Given the description of an element on the screen output the (x, y) to click on. 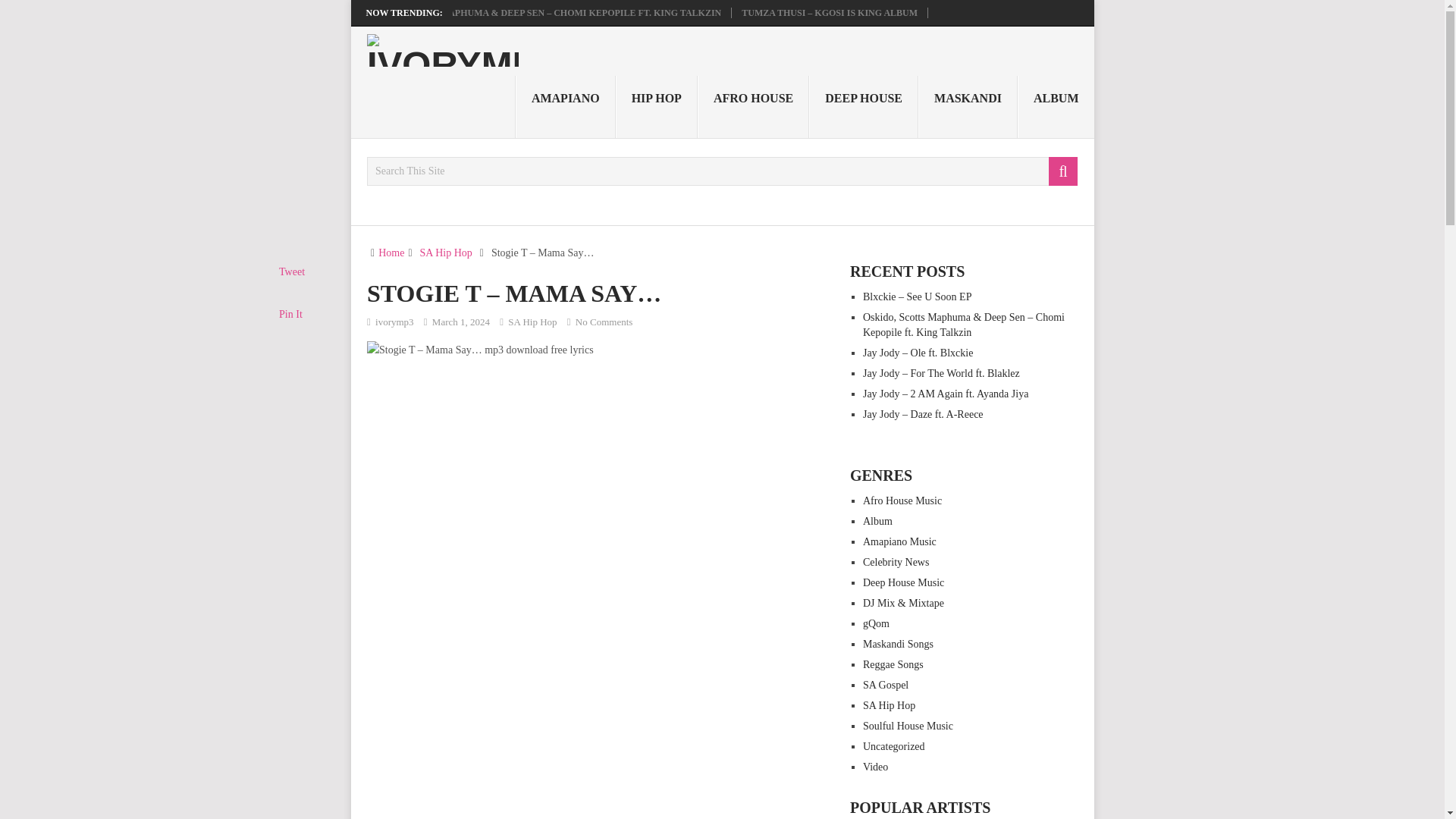
Tweet (291, 271)
Posts by ivorymp3 (394, 321)
HIP HOP (656, 107)
No Comments (603, 321)
SA Hip Hop (445, 252)
ALBUM (1055, 107)
AFRO HOUSE (753, 107)
AMAPIANO (565, 107)
SA Hip Hop (532, 321)
ivorymp3 (394, 321)
Home (391, 252)
View all posts in SA Hip Hop (532, 321)
Pin It (290, 314)
DEEP HOUSE (863, 107)
MASKANDI (967, 107)
